Given the description of an element on the screen output the (x, y) to click on. 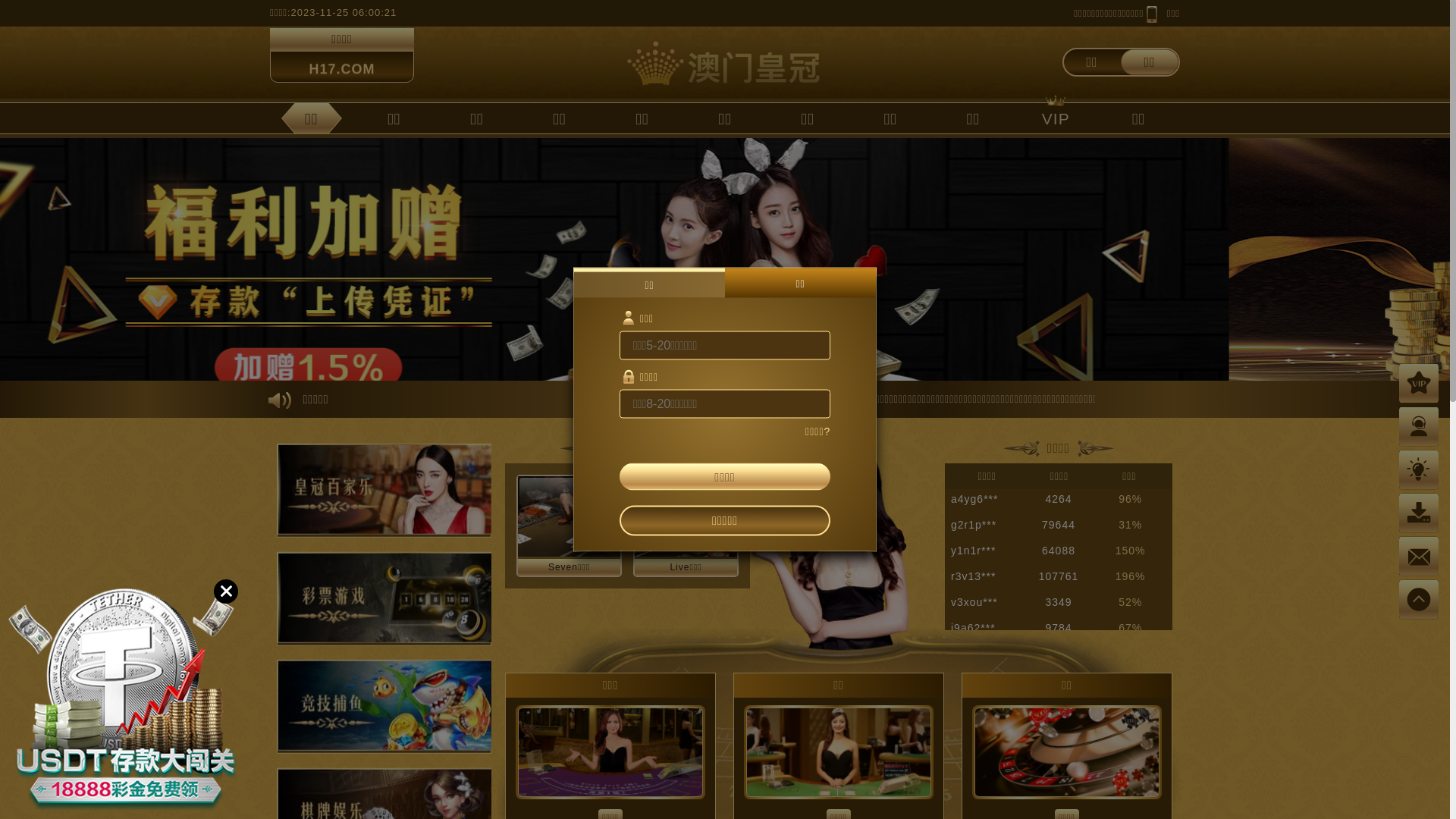
VIP Element type: text (1055, 118)
